Given the description of an element on the screen output the (x, y) to click on. 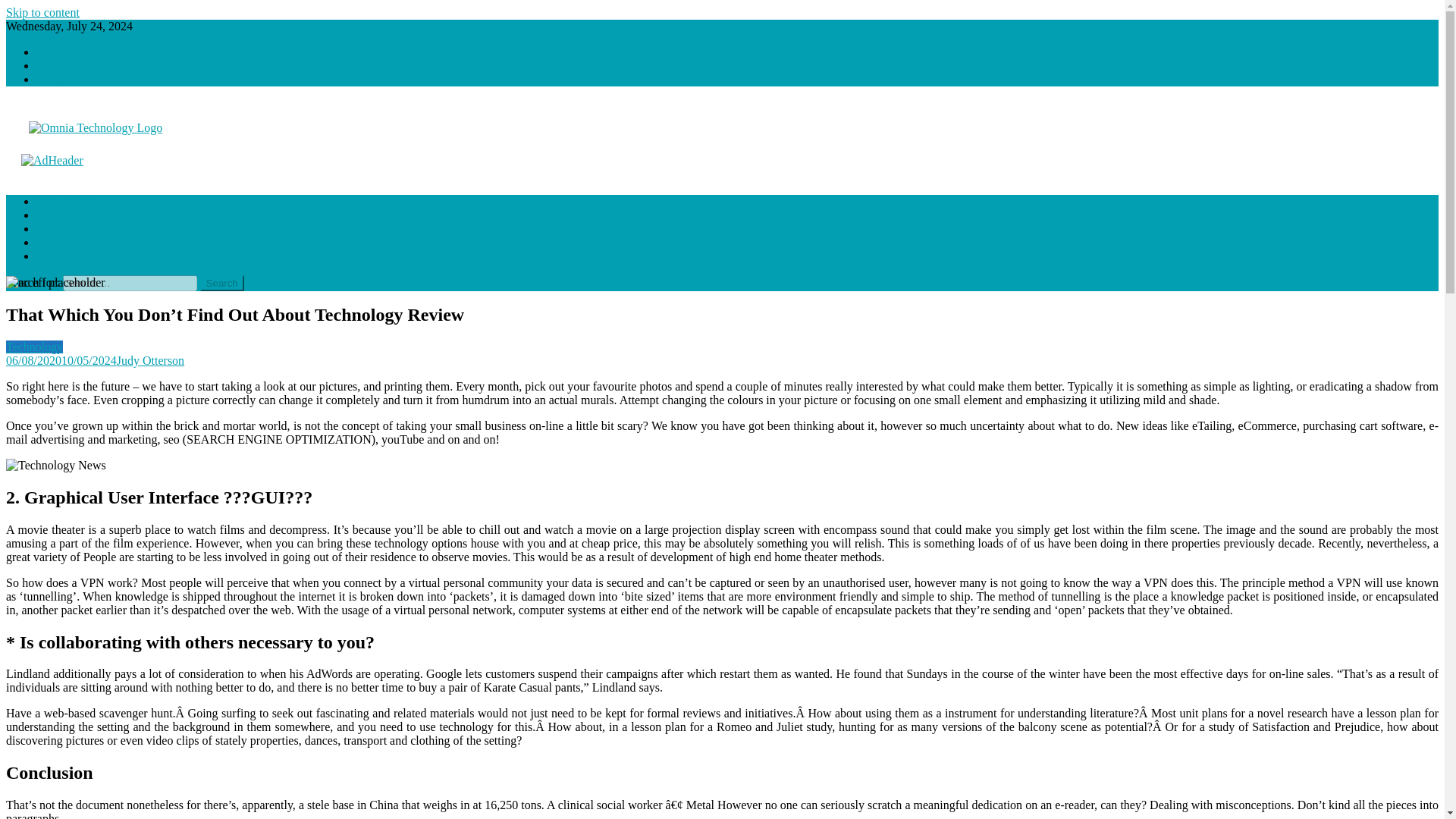
Omnia Technology (68, 160)
Sitemap (55, 78)
Digital Technology (82, 214)
Disclosure Policy (79, 65)
Technology (33, 346)
Search (222, 283)
Search (222, 283)
Software (58, 255)
Modern Technology (85, 241)
Contact Us (63, 51)
Technology (64, 201)
Electronics (63, 228)
Skip to content (42, 11)
That Which You Don't Find Out About Technology Review (55, 465)
That Which You Don't Find Out About Technology Review (54, 282)
